Given the description of an element on the screen output the (x, y) to click on. 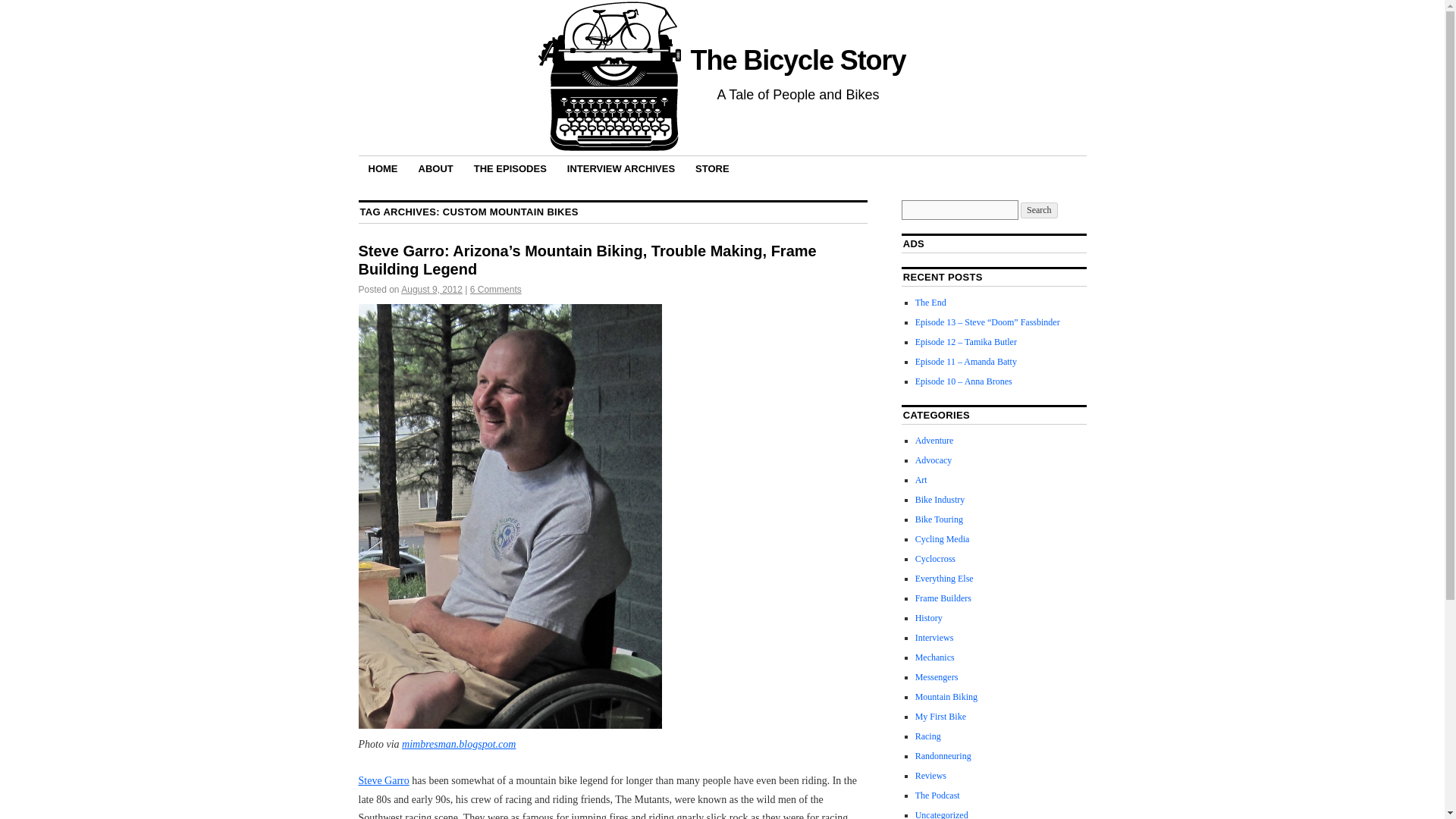
THE EPISODES (510, 168)
August 9, 2012 (432, 289)
Advocacy (933, 460)
The End (930, 302)
HOME (382, 168)
Bike Industry (940, 499)
ABOUT (435, 168)
Adventure (934, 439)
STORE (712, 168)
Bike Touring (938, 519)
6 Comments (495, 289)
Art (921, 480)
The Bicycle Story (797, 60)
INTERVIEW ARCHIVES (620, 168)
8:33 am (432, 289)
